Given the description of an element on the screen output the (x, y) to click on. 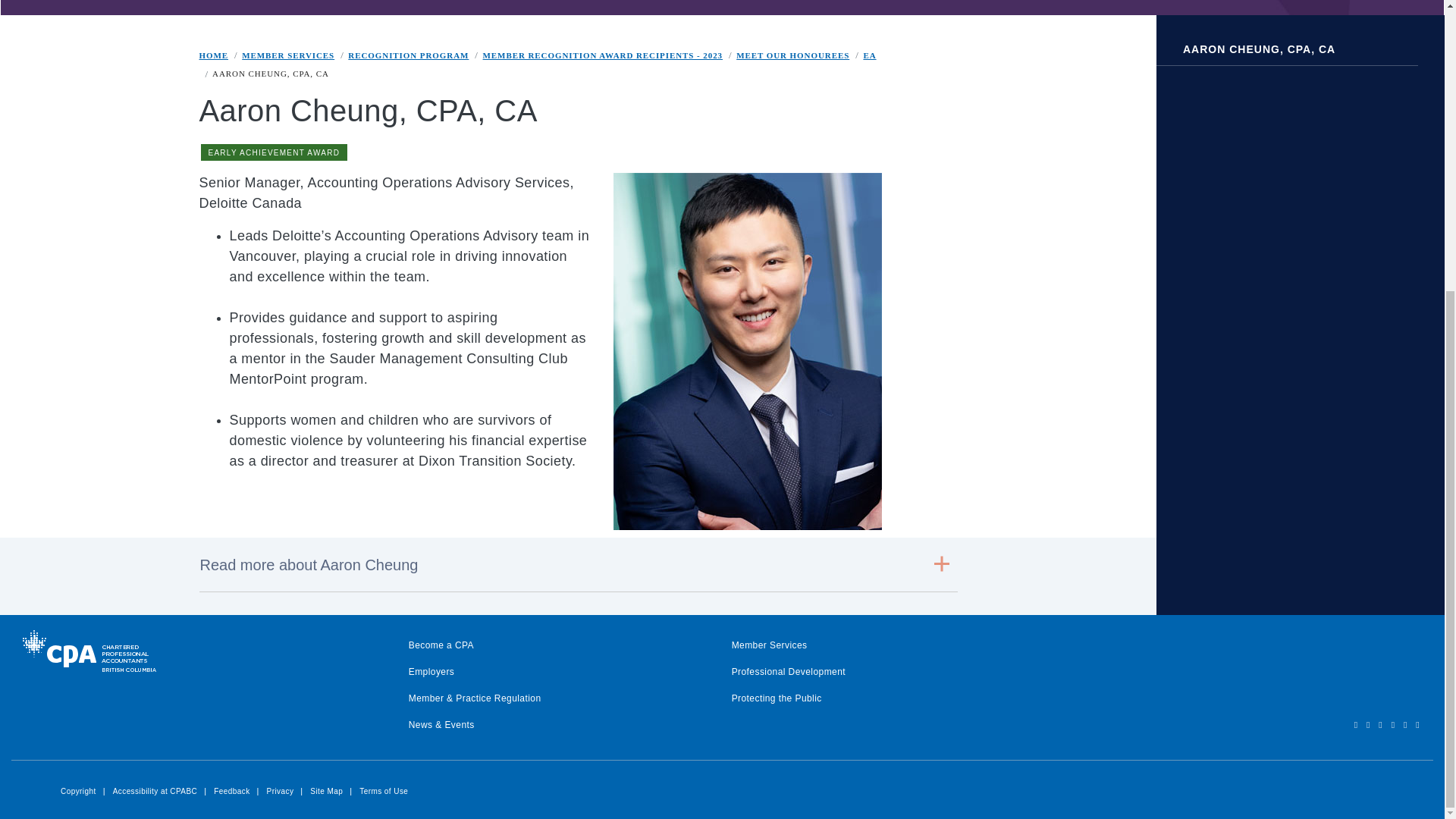
Become a CPA (441, 644)
HOME (213, 54)
Employers (431, 671)
Member Services (770, 644)
Read more about Aaron Cheung (577, 564)
MEET OUR HONOUREES (792, 54)
MEMBER RECOGNITION AWARD RECIPIENTS - 2023 (602, 54)
RECOGNITION PROGRAM (407, 54)
Professional Development (788, 671)
MEMBER SERVICES (287, 54)
